Given the description of an element on the screen output the (x, y) to click on. 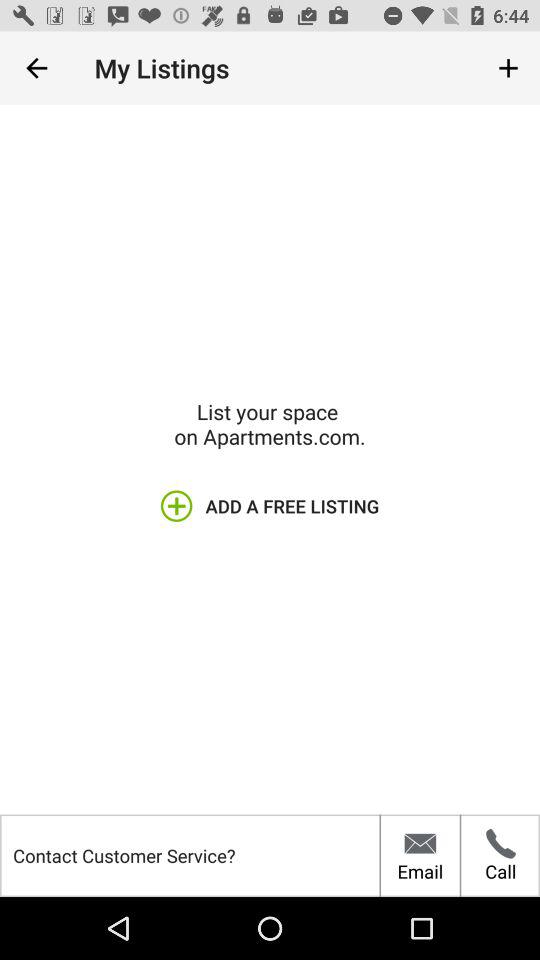
open item to the right of the my listings item (508, 67)
